Given the description of an element on the screen output the (x, y) to click on. 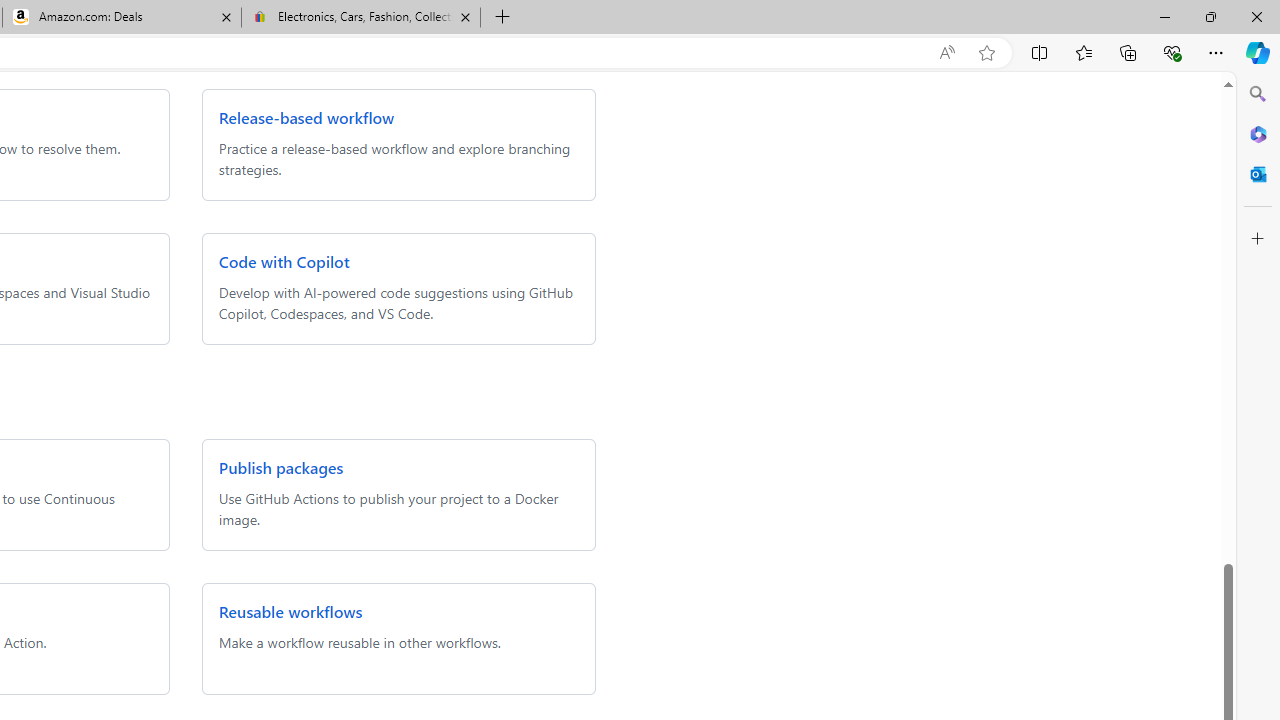
Publish packages (280, 467)
Release-based workflow (306, 117)
